Given the description of an element on the screen output the (x, y) to click on. 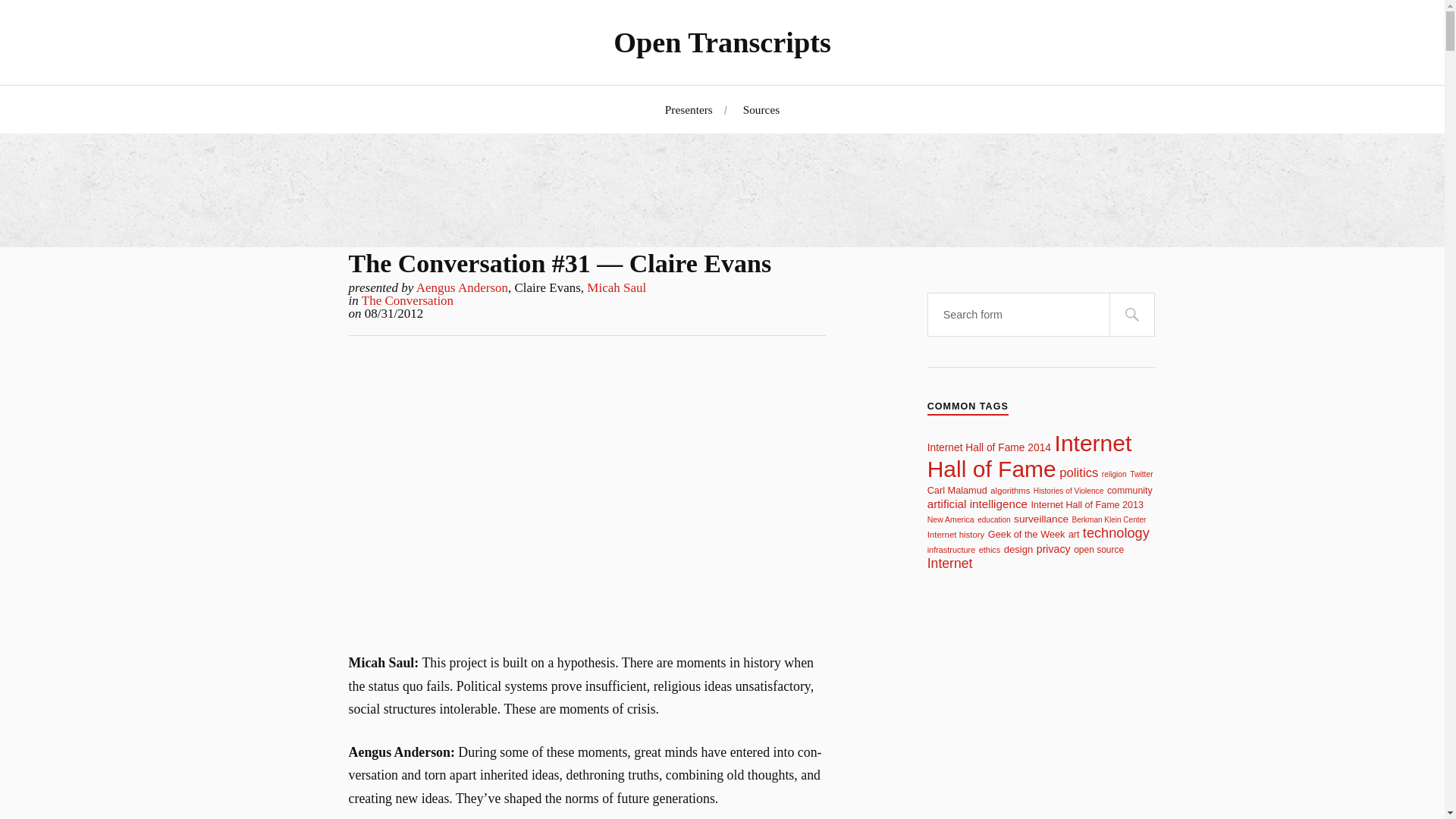
Carl Malamud (957, 490)
algorithms (1009, 490)
Presenters (689, 109)
45 topics (957, 490)
32 topics (1141, 474)
Aengus Anderson (462, 287)
religion (1114, 474)
Micah Saul (616, 287)
30 topics (1109, 519)
50 topics (1040, 518)
